Given the description of an element on the screen output the (x, y) to click on. 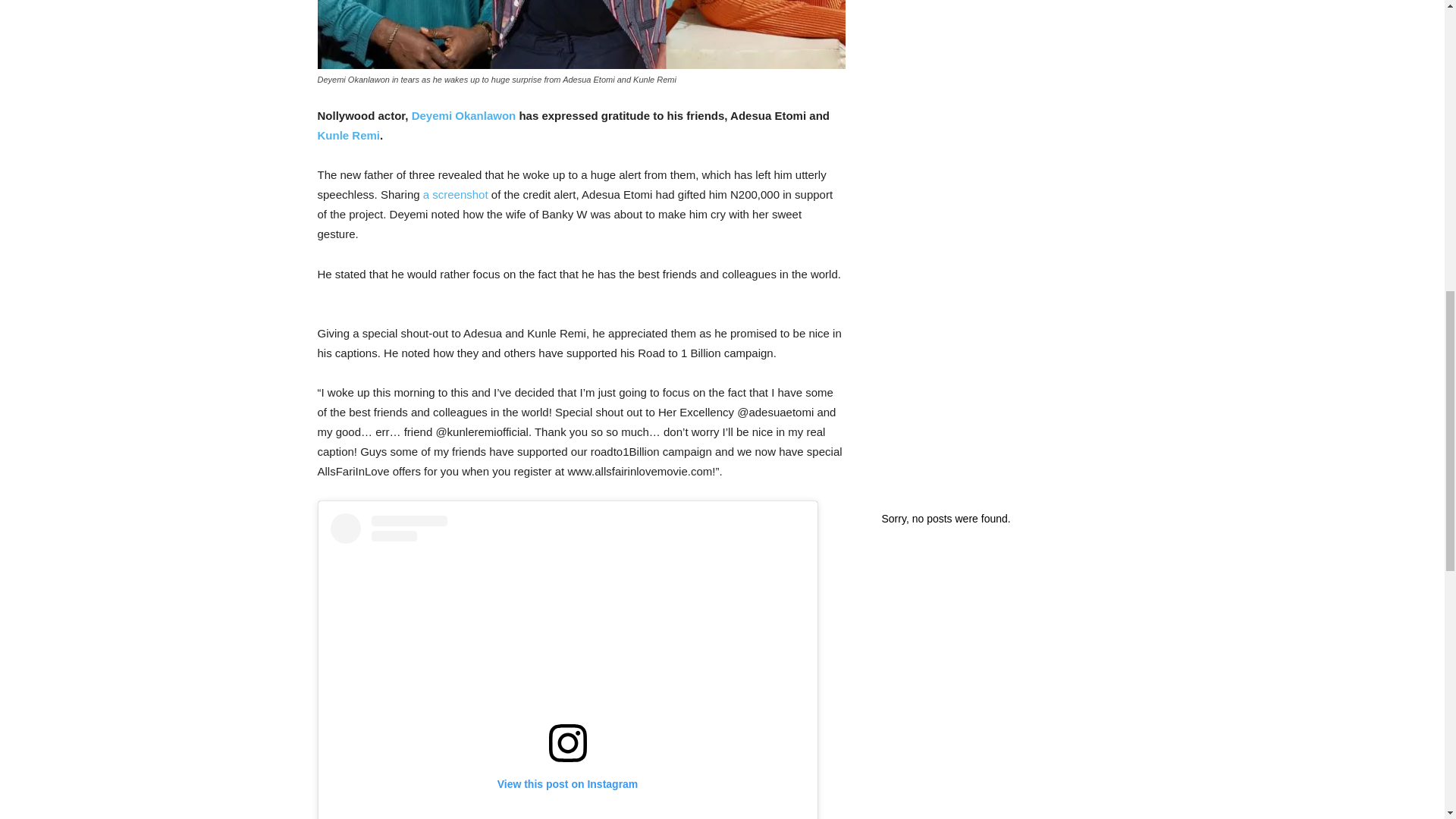
Kunle Remi (348, 134)
Deyemi Okanlawon (464, 115)
a screenshot (455, 194)
